Given the description of an element on the screen output the (x, y) to click on. 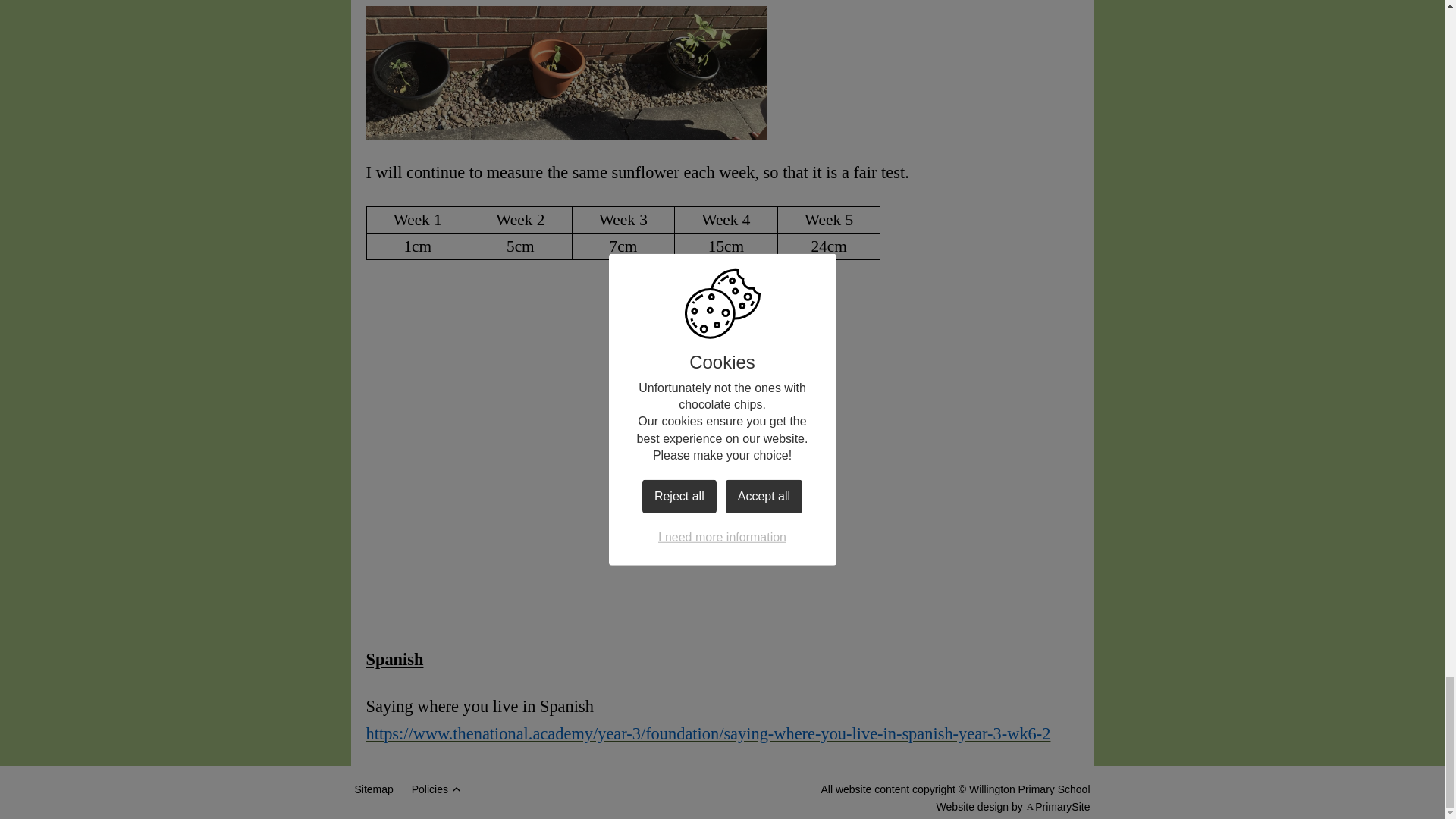
View large version of image (721, 360)
View large version of image (964, 360)
View large version of image (721, 546)
View large version of image (478, 360)
View large version of image (478, 546)
